Given the description of an element on the screen output the (x, y) to click on. 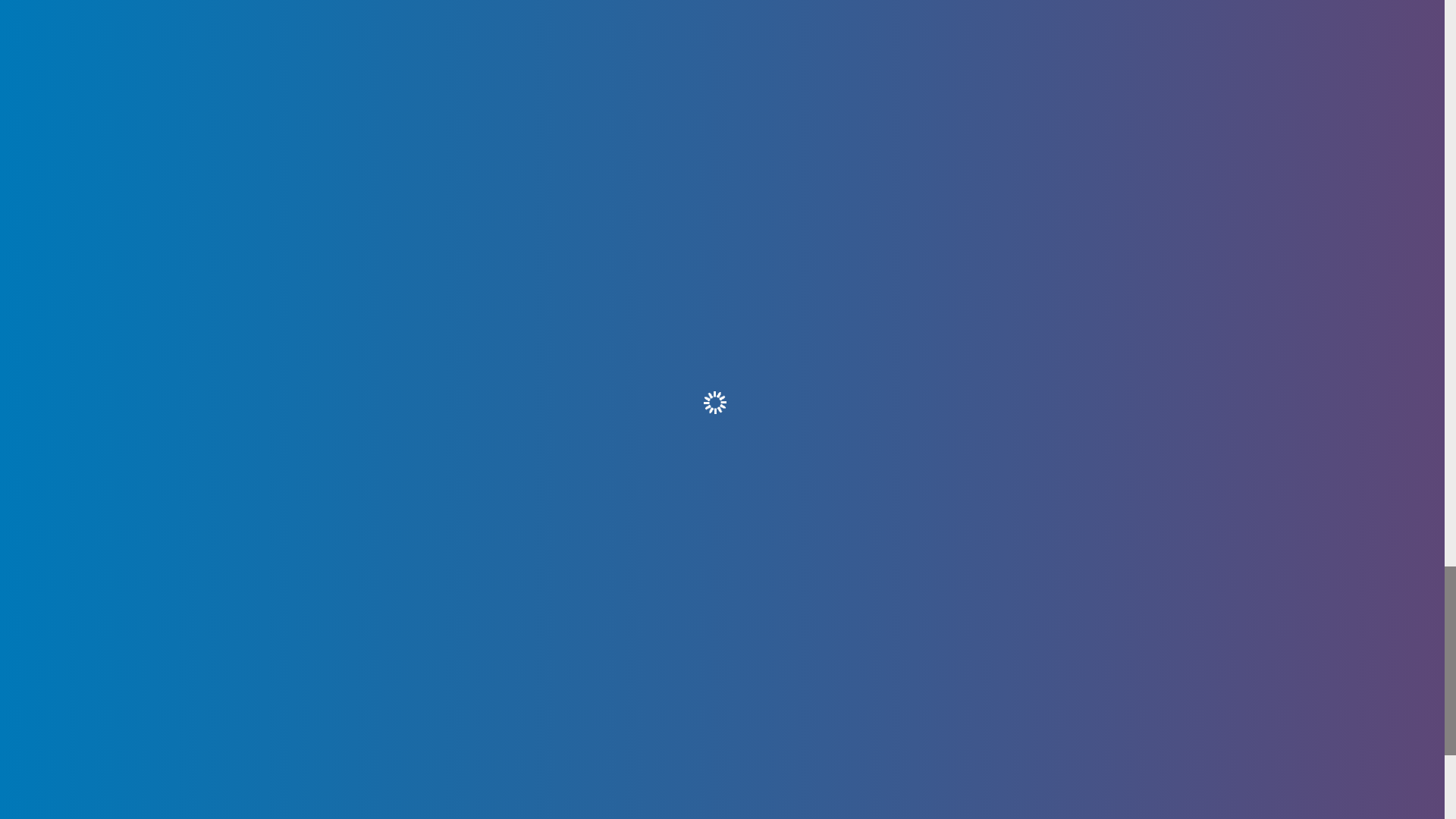
Read more (722, 23)
Our blog (434, 489)
Our team (434, 444)
Our approach (937, 267)
Our terms (506, 267)
Contact us (434, 420)
FAQ (434, 513)
Our contributors (721, 422)
